Given the description of an element on the screen output the (x, y) to click on. 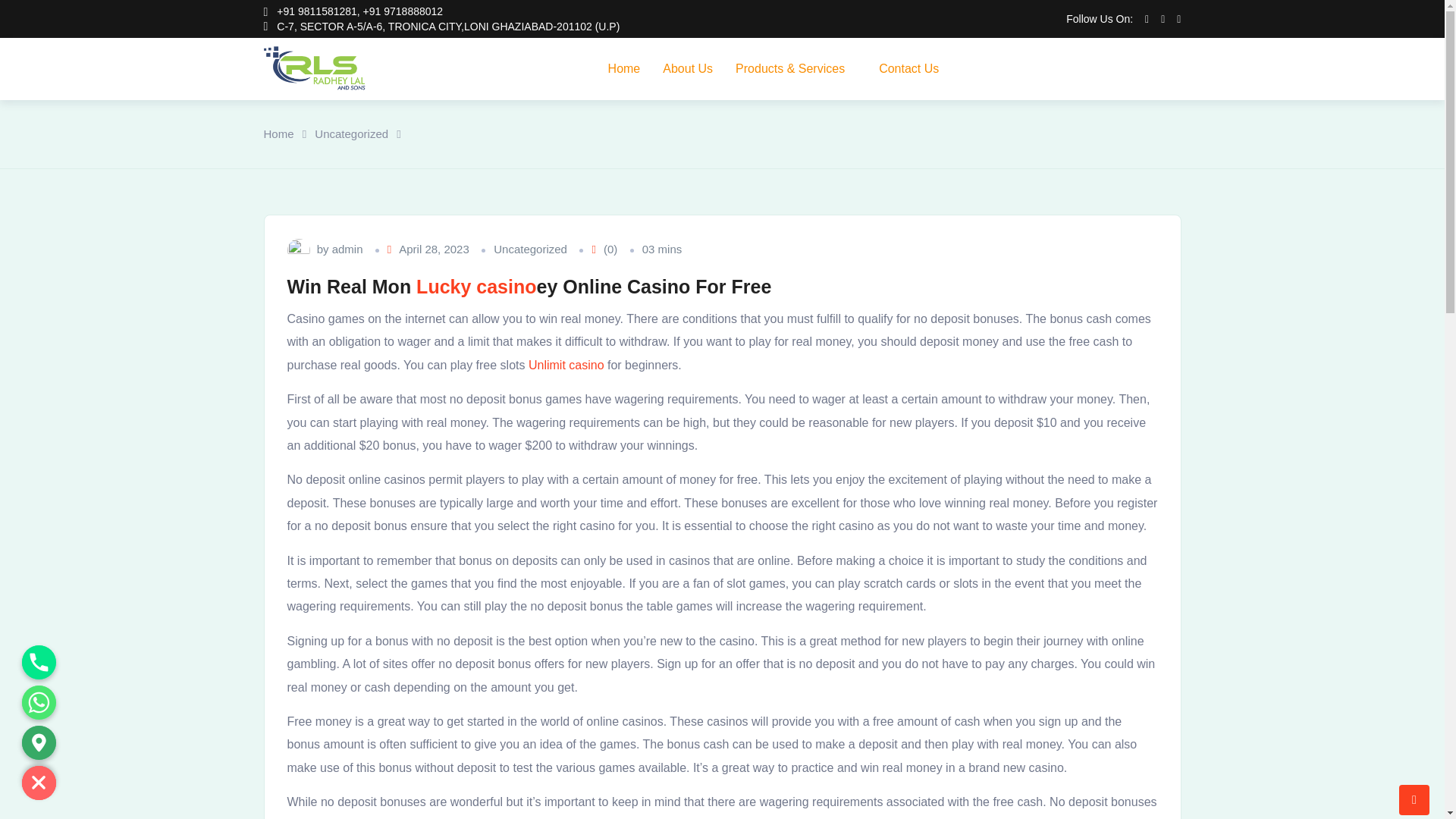
About Us (686, 68)
Lucky casino (475, 286)
Uncategorized (351, 133)
Contact Us (908, 68)
Home (278, 133)
admin (346, 250)
Uncategorized (530, 250)
Home (624, 68)
Unlimit casino (566, 364)
